Given the description of an element on the screen output the (x, y) to click on. 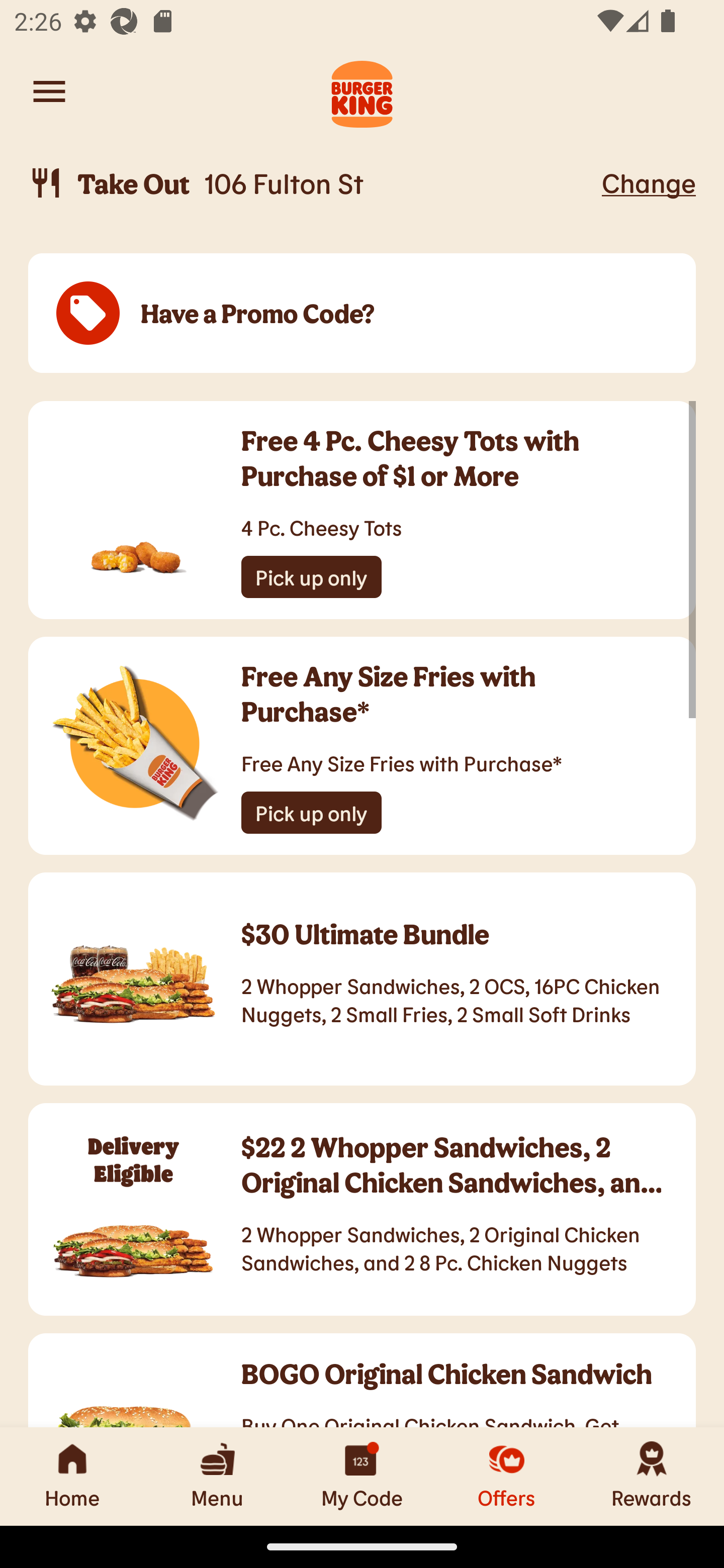
Burger King Logo. Navigate to Home (362, 91)
Navigate to account menu  (49, 91)
Take Out, 106 Fulton St  Take Out 106 Fulton St (311, 183)
Change (648, 182)
Have a Promo Code?  Have a Promo Code? (361, 313)
Home (72, 1475)
Menu (216, 1475)
My Code (361, 1475)
Offers (506, 1475)
Rewards (651, 1475)
